Given the description of an element on the screen output the (x, y) to click on. 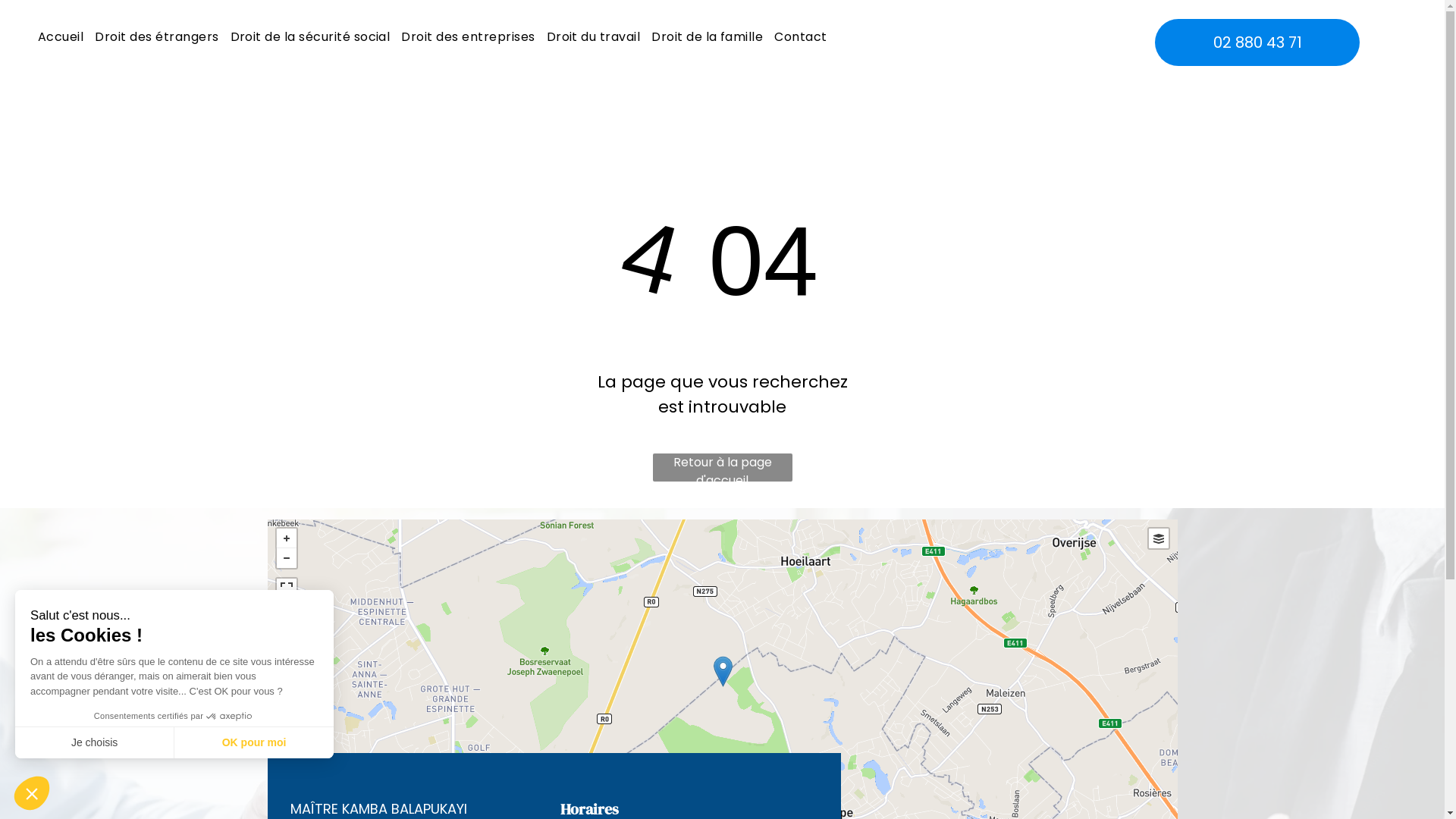
Droit du travail Element type: text (591, 37)
Contact Element type: text (798, 37)
Droit des entreprises Element type: text (465, 37)
View Fullscreen Element type: hover (285, 588)
- Element type: text (285, 557)
Layers Element type: hover (1157, 538)
Accueil Element type: text (58, 37)
+ Element type: text (285, 538)
02 880 43 71 Element type: text (1256, 41)
Droit de la famille Element type: text (704, 37)
